Given the description of an element on the screen output the (x, y) to click on. 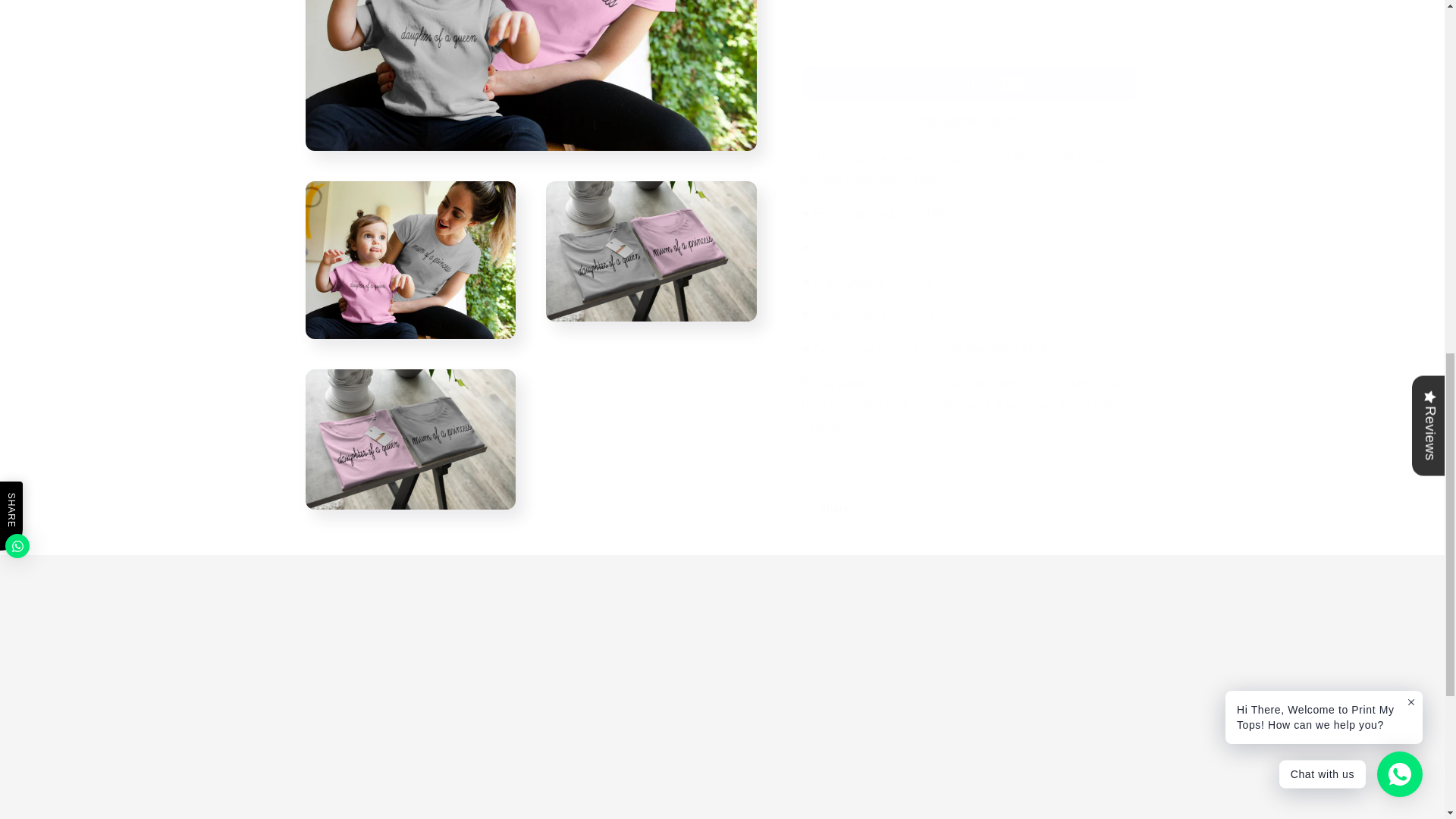
Open media 4 in modal (409, 19)
